Given the description of an element on the screen output the (x, y) to click on. 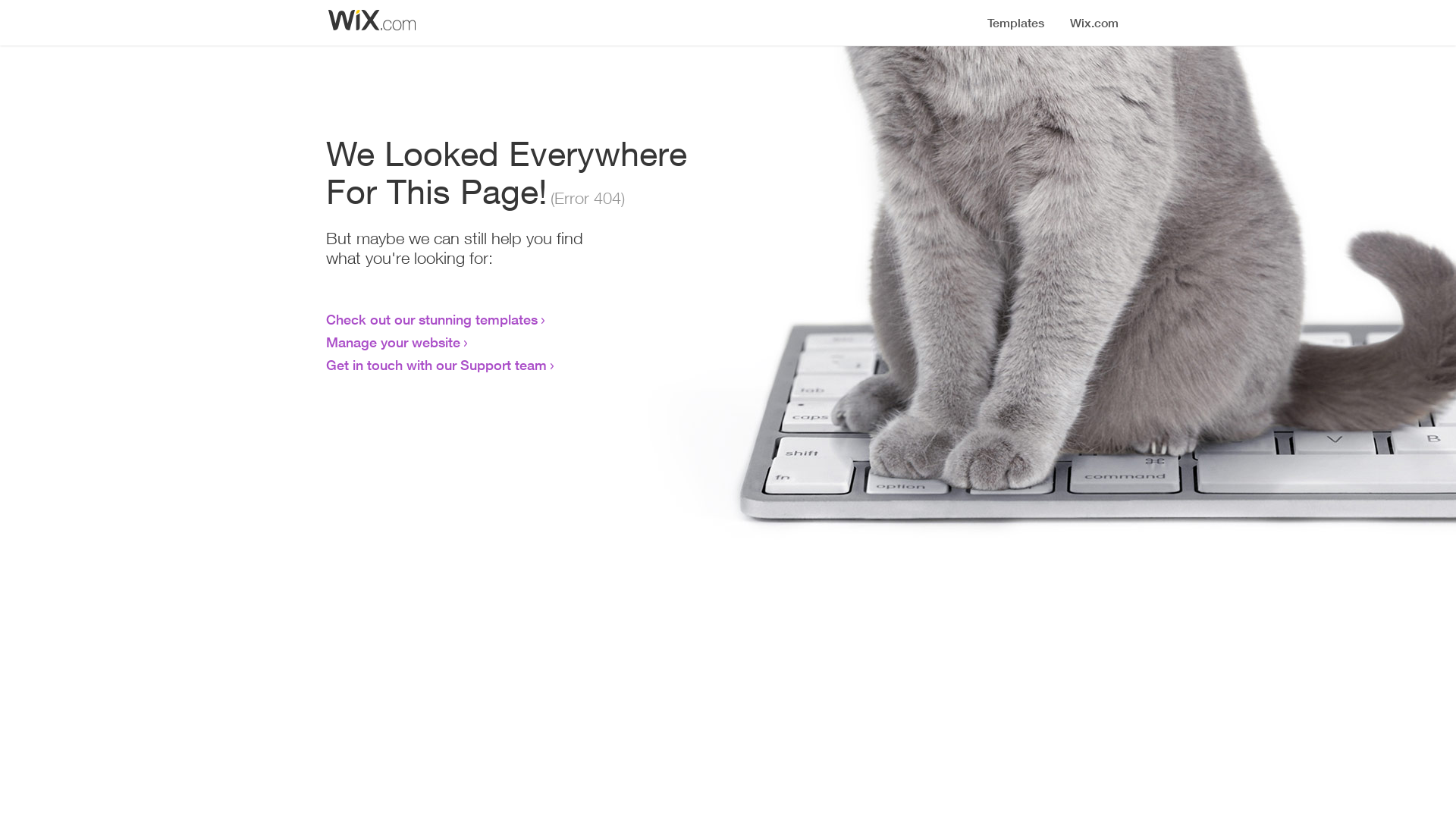
Get in touch with our Support team Element type: text (436, 364)
Check out our stunning templates Element type: text (431, 318)
Manage your website Element type: text (393, 341)
